Given the description of an element on the screen output the (x, y) to click on. 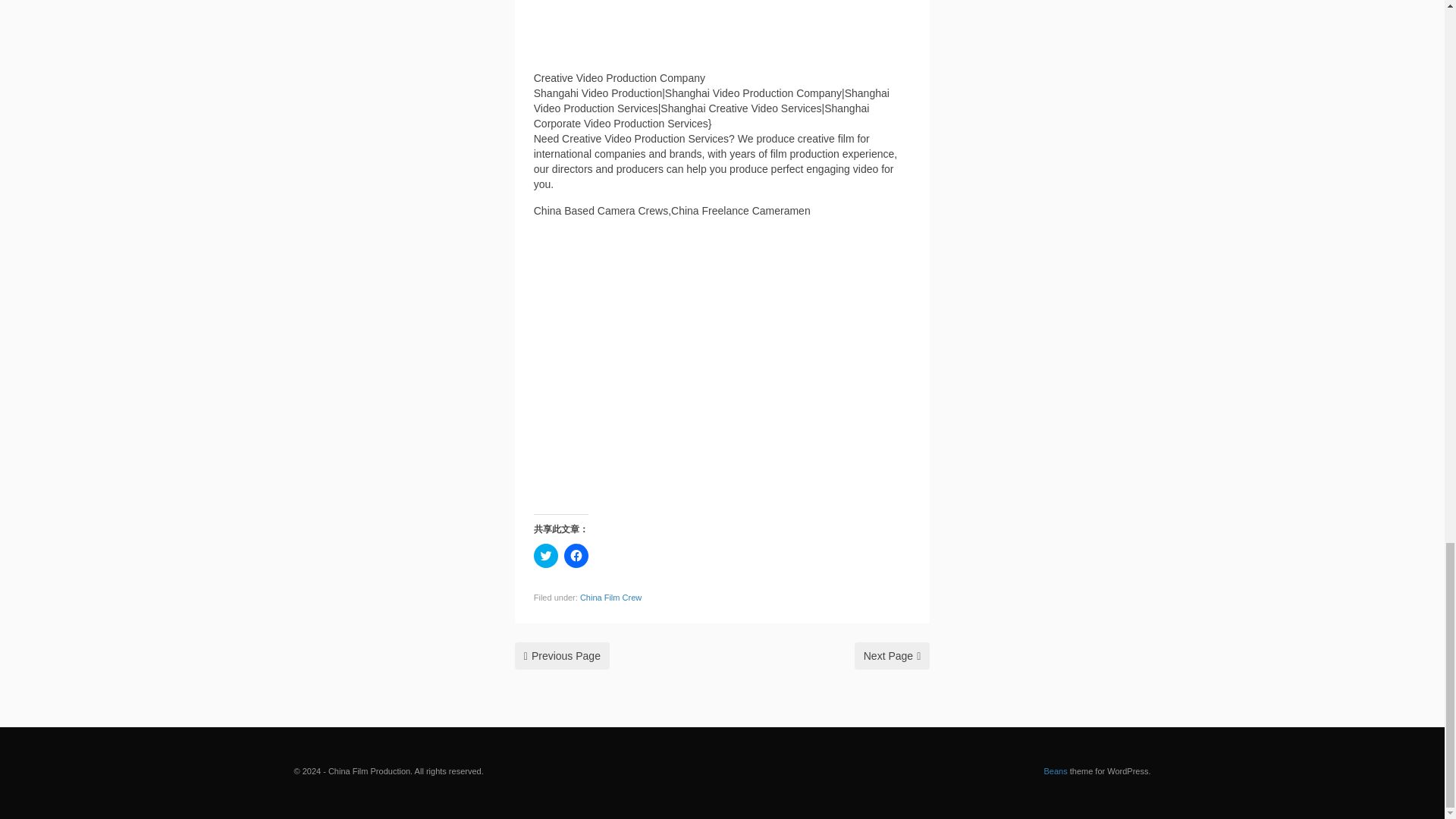
Click to share on Twitter (545, 555)
China Film Crew (610, 596)
Beans (1055, 770)
Next Page (892, 655)
Shenzhen Company Profiles Camera Crews (562, 655)
Click to share on Facebook (576, 555)
Previous Page (562, 655)
